Given the description of an element on the screen output the (x, y) to click on. 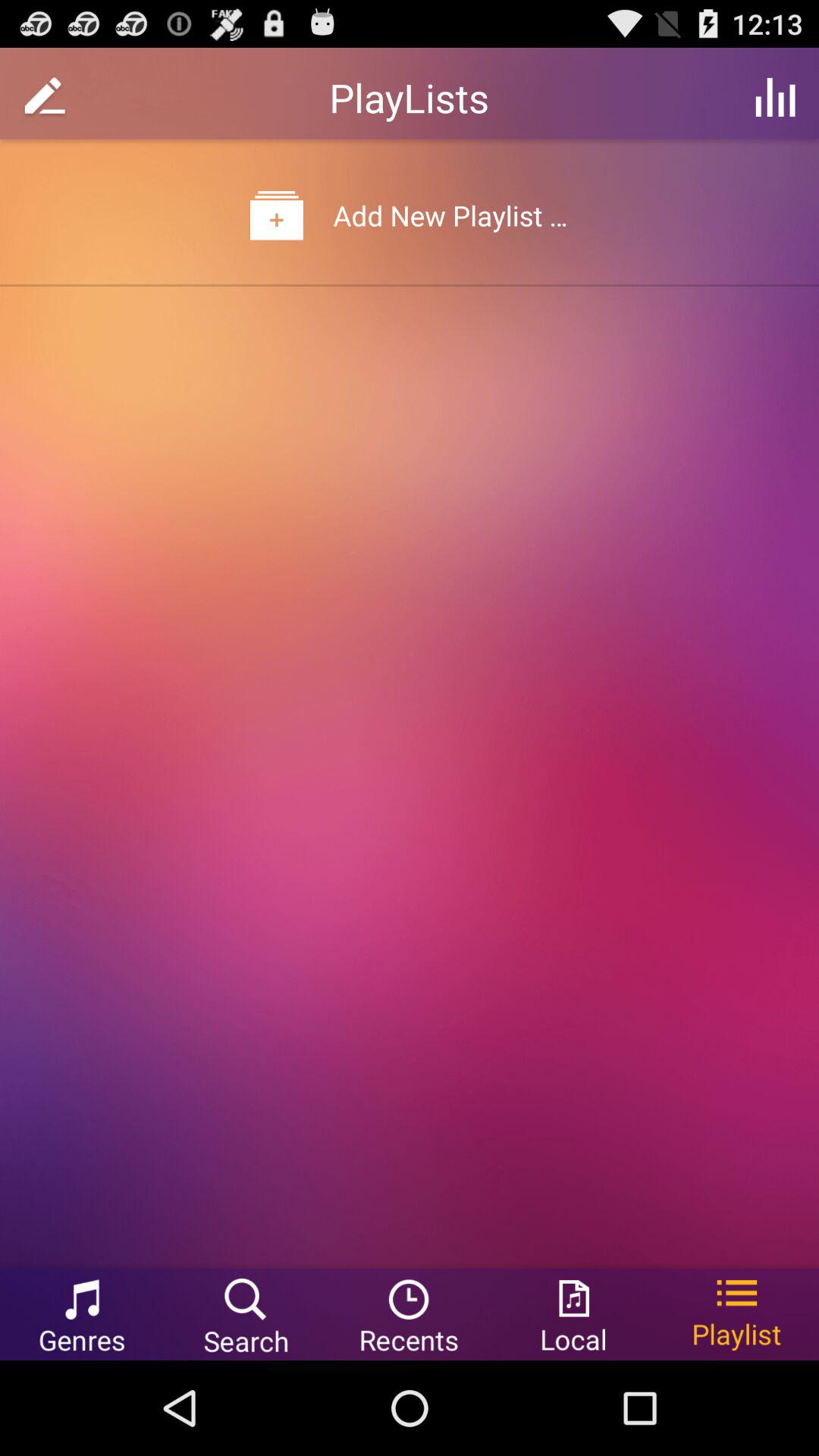
choose item next to playlists (775, 96)
